Given the description of an element on the screen output the (x, y) to click on. 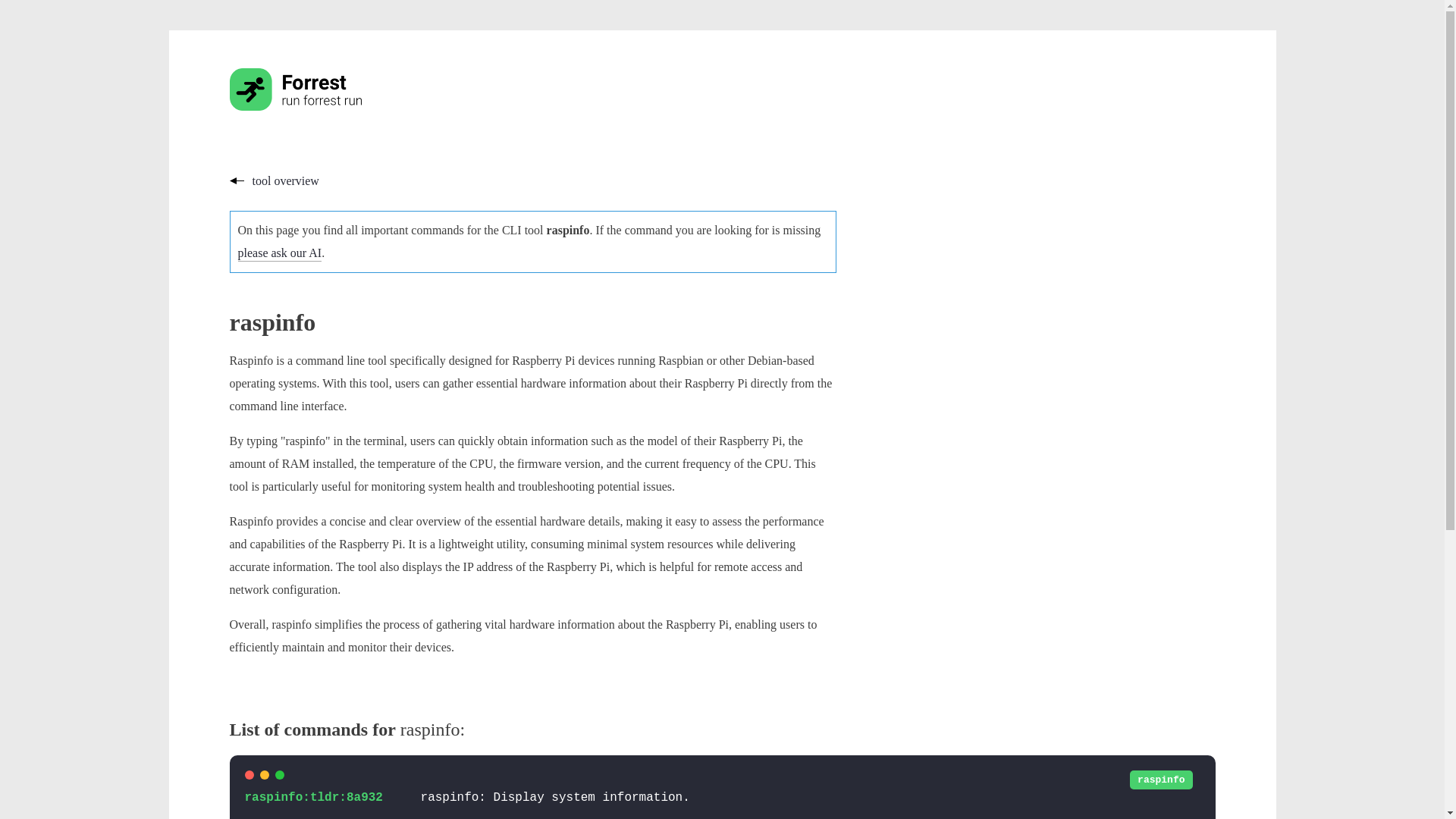
please ask our AI (279, 253)
tool overview (273, 180)
raspinfo (1161, 779)
